Given the description of an element on the screen output the (x, y) to click on. 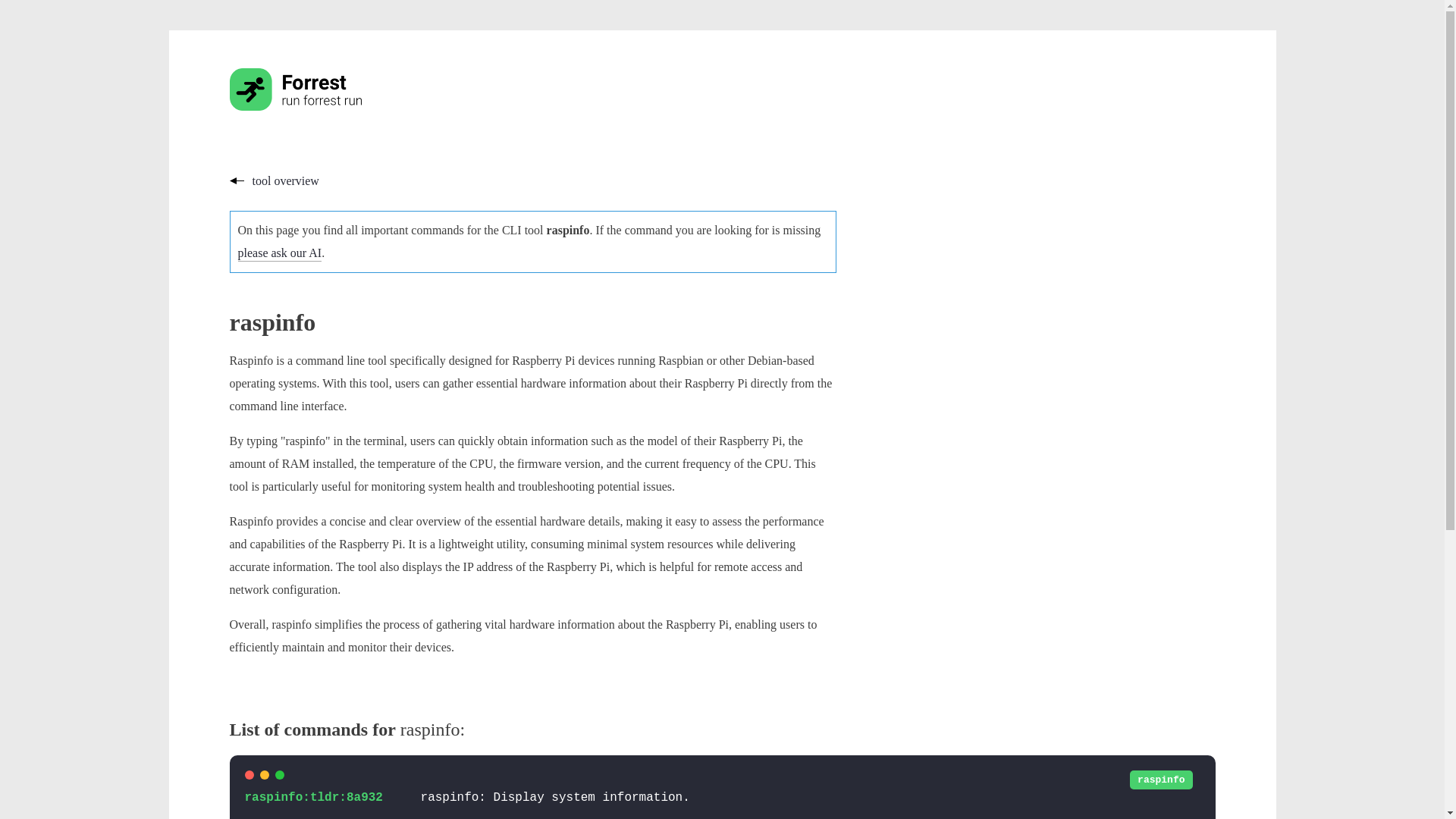
please ask our AI (279, 253)
tool overview (273, 180)
raspinfo (1161, 779)
